Given the description of an element on the screen output the (x, y) to click on. 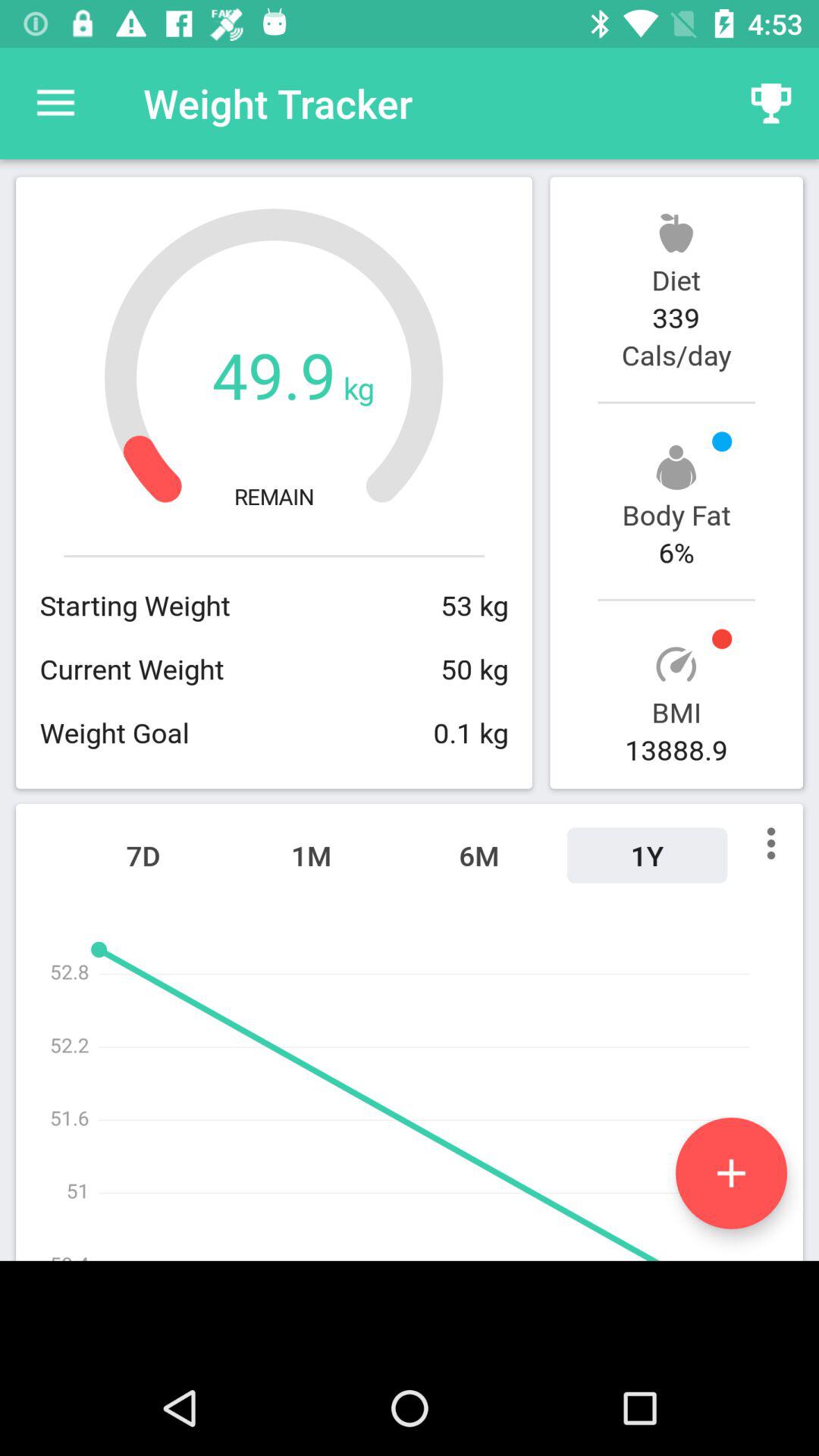
open the item to the left of 1y item (479, 855)
